Given the description of an element on the screen output the (x, y) to click on. 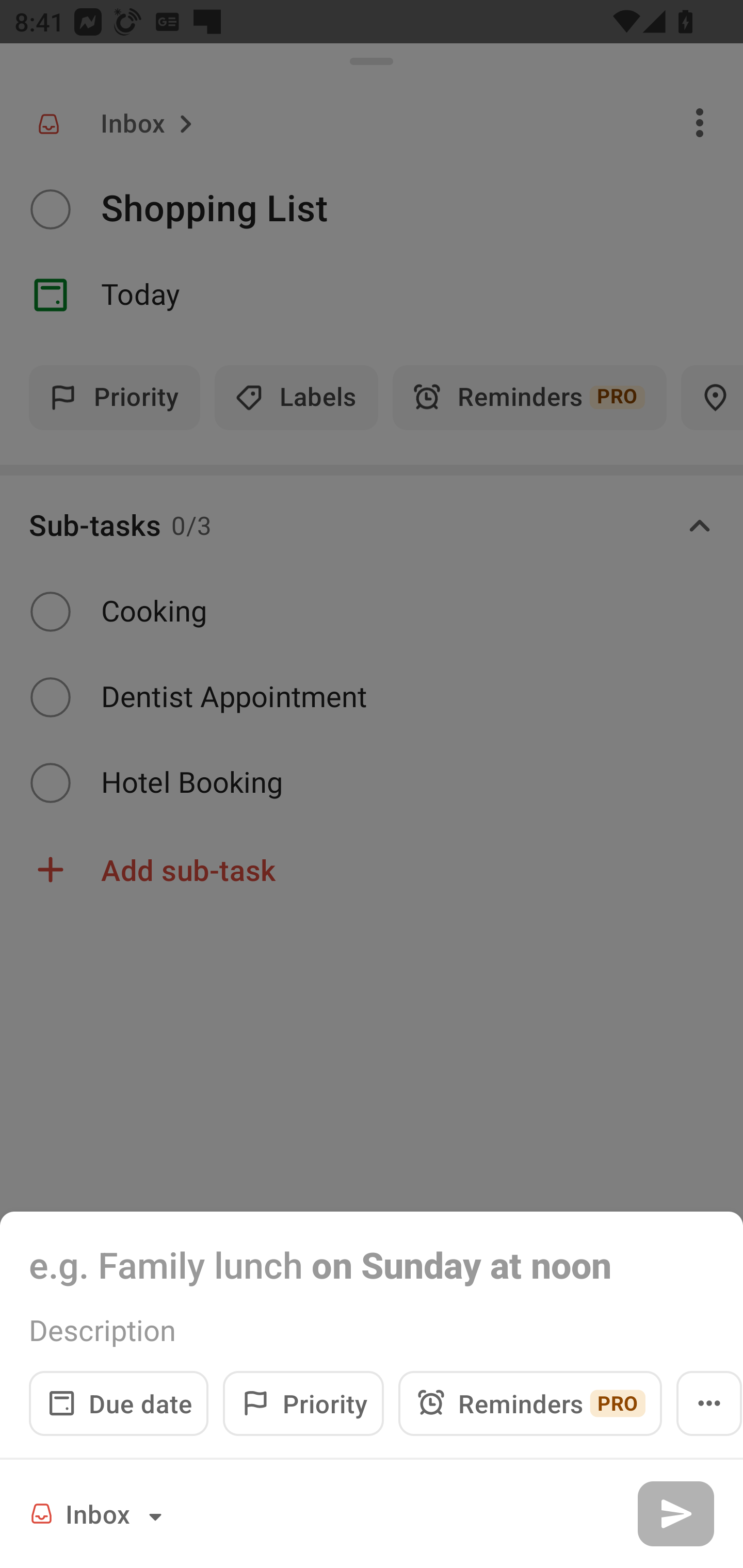
e.g. Family lunch on Sunday at noon (371, 1264)
Description (371, 1330)
Due date Date (118, 1403)
Priority (303, 1403)
Reminders PRO Reminders (530, 1403)
Open menu (709, 1403)
Inbox Project (99, 1513)
Add (675, 1513)
